Given the description of an element on the screen output the (x, y) to click on. 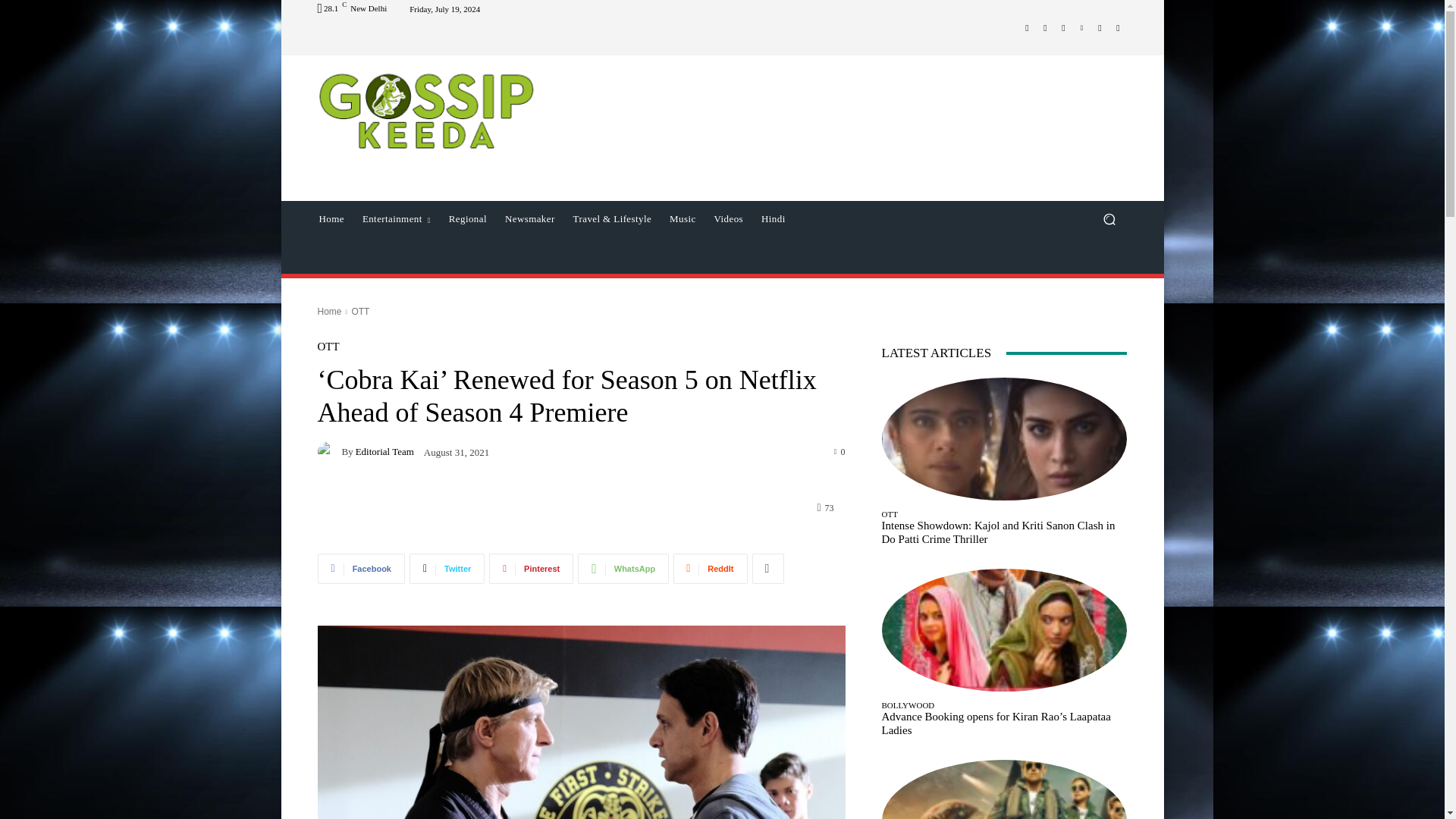
Entertainment (396, 218)
RSS (1117, 27)
Hindi (773, 218)
Twitter (1062, 27)
Videos (728, 218)
Home (330, 218)
Newsmaker (530, 218)
Medium (1099, 27)
Facebook (1026, 27)
Pinterest (1080, 27)
Regional (467, 218)
Music (682, 218)
Instagram (1044, 27)
